Given the description of an element on the screen output the (x, y) to click on. 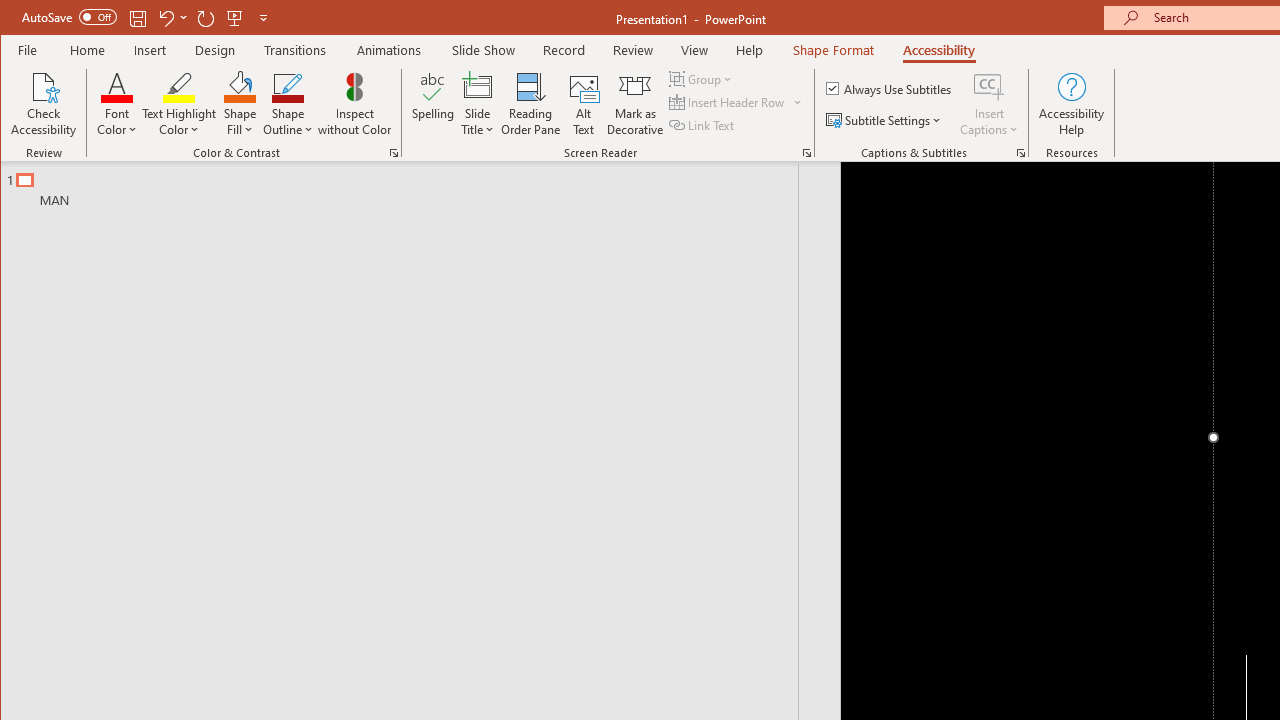
Always Use Subtitles (890, 88)
Reading Order Pane (531, 104)
Shape Format (833, 50)
Shape Fill Orange, Accent 2 (239, 86)
